Given the description of an element on the screen output the (x, y) to click on. 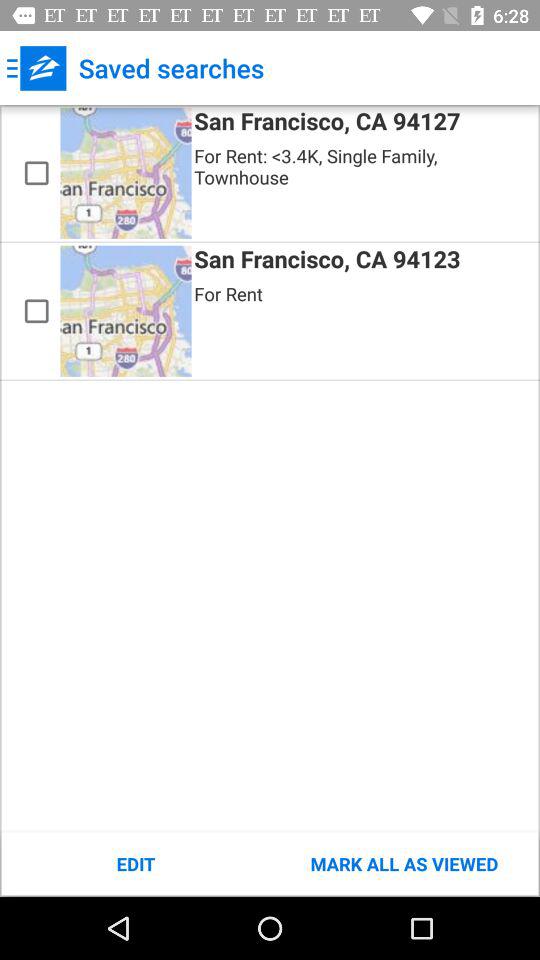
select san francisco ca 94123 for rent (36, 311)
